Given the description of an element on the screen output the (x, y) to click on. 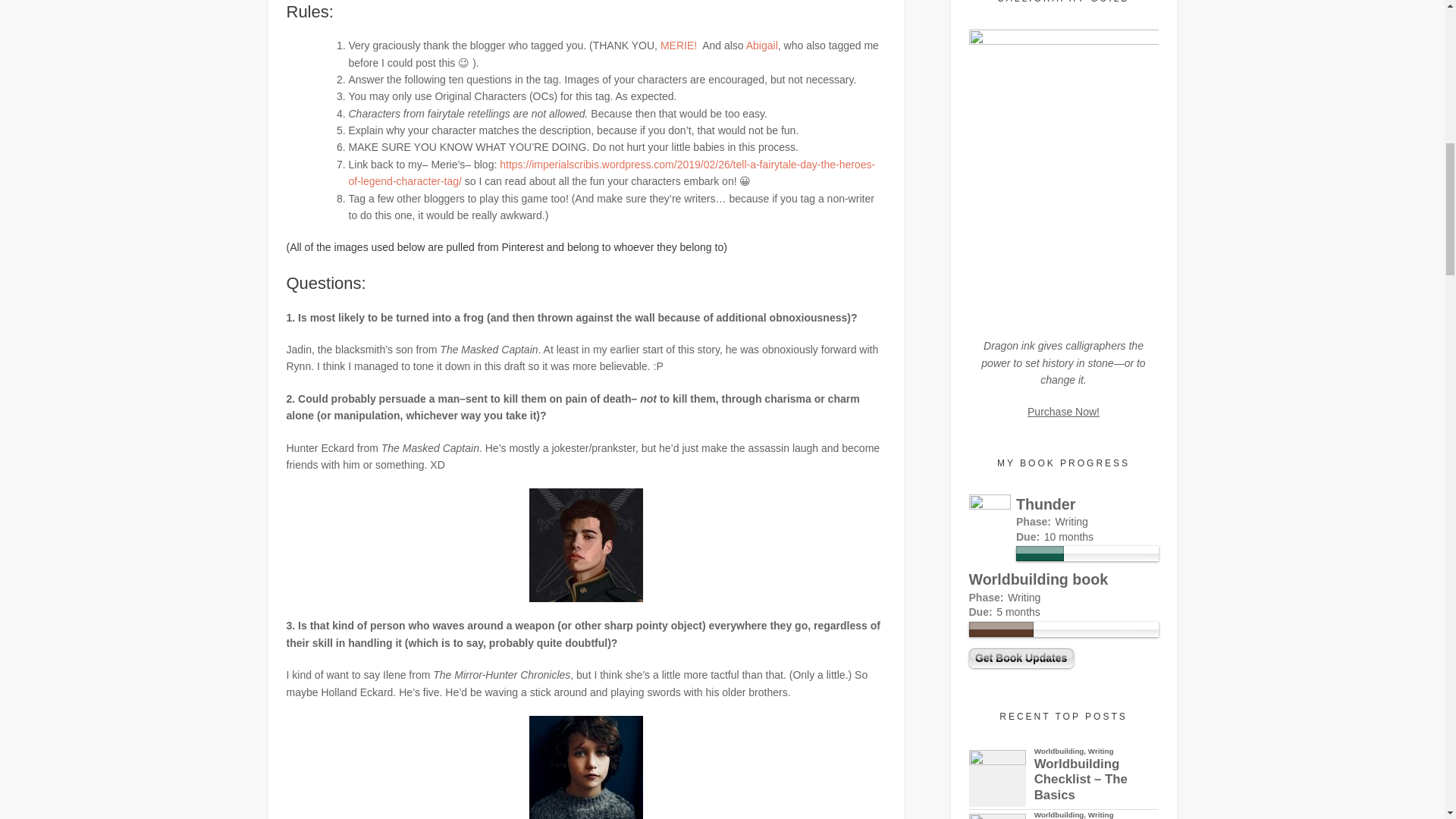
MERIE!  (680, 45)
Abigail (761, 45)
Sign up! (1361, 191)
